Given the description of an element on the screen output the (x, y) to click on. 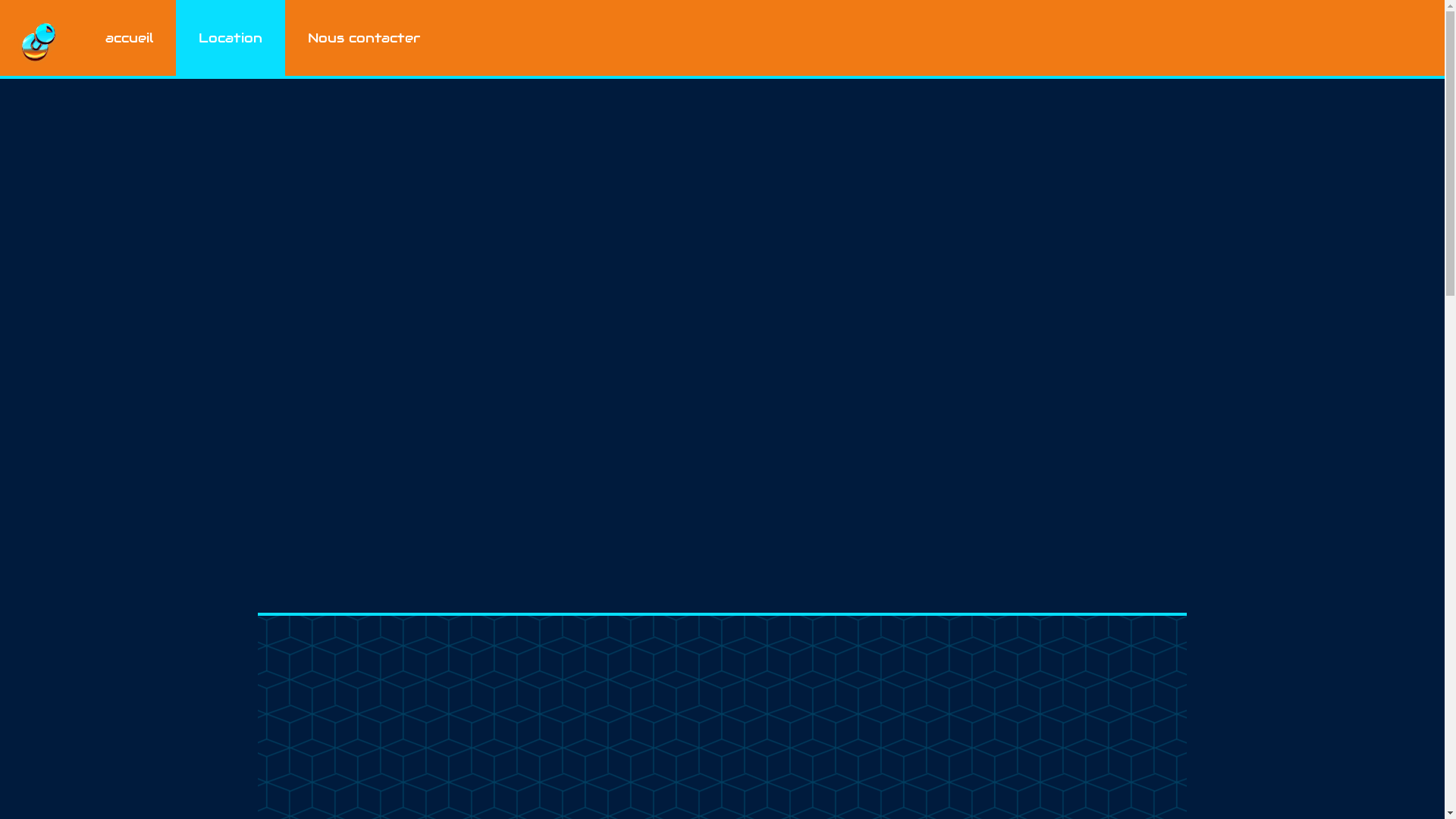
Nous contacter Element type: text (363, 37)
borne-arcade.be Element type: hover (37, 37)
accueil Element type: text (128, 37)
Location Element type: text (230, 37)
